Given the description of an element on the screen output the (x, y) to click on. 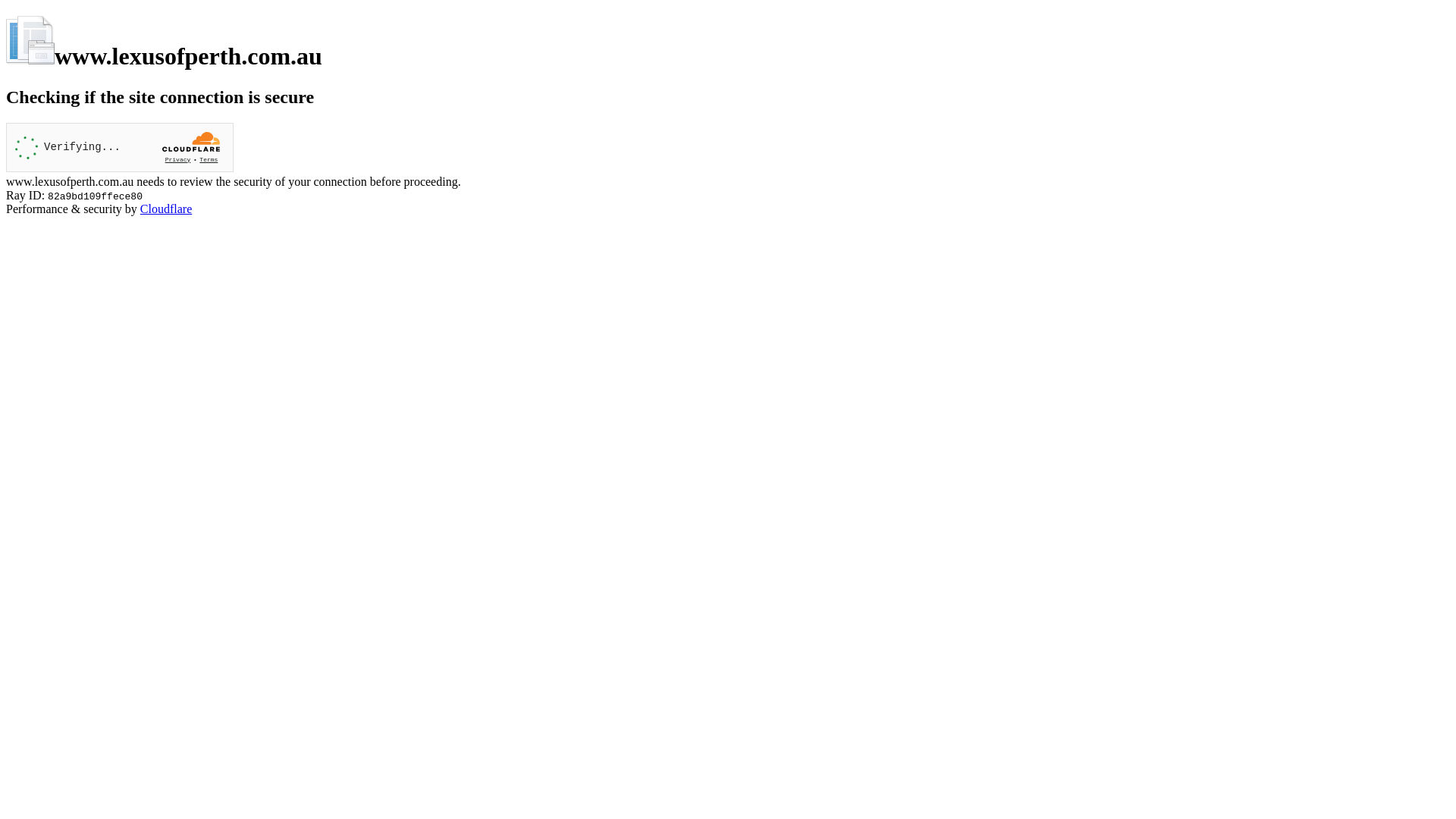
Widget containing a Cloudflare security challenge Element type: hover (119, 147)
Cloudflare Element type: text (165, 208)
